Given the description of an element on the screen output the (x, y) to click on. 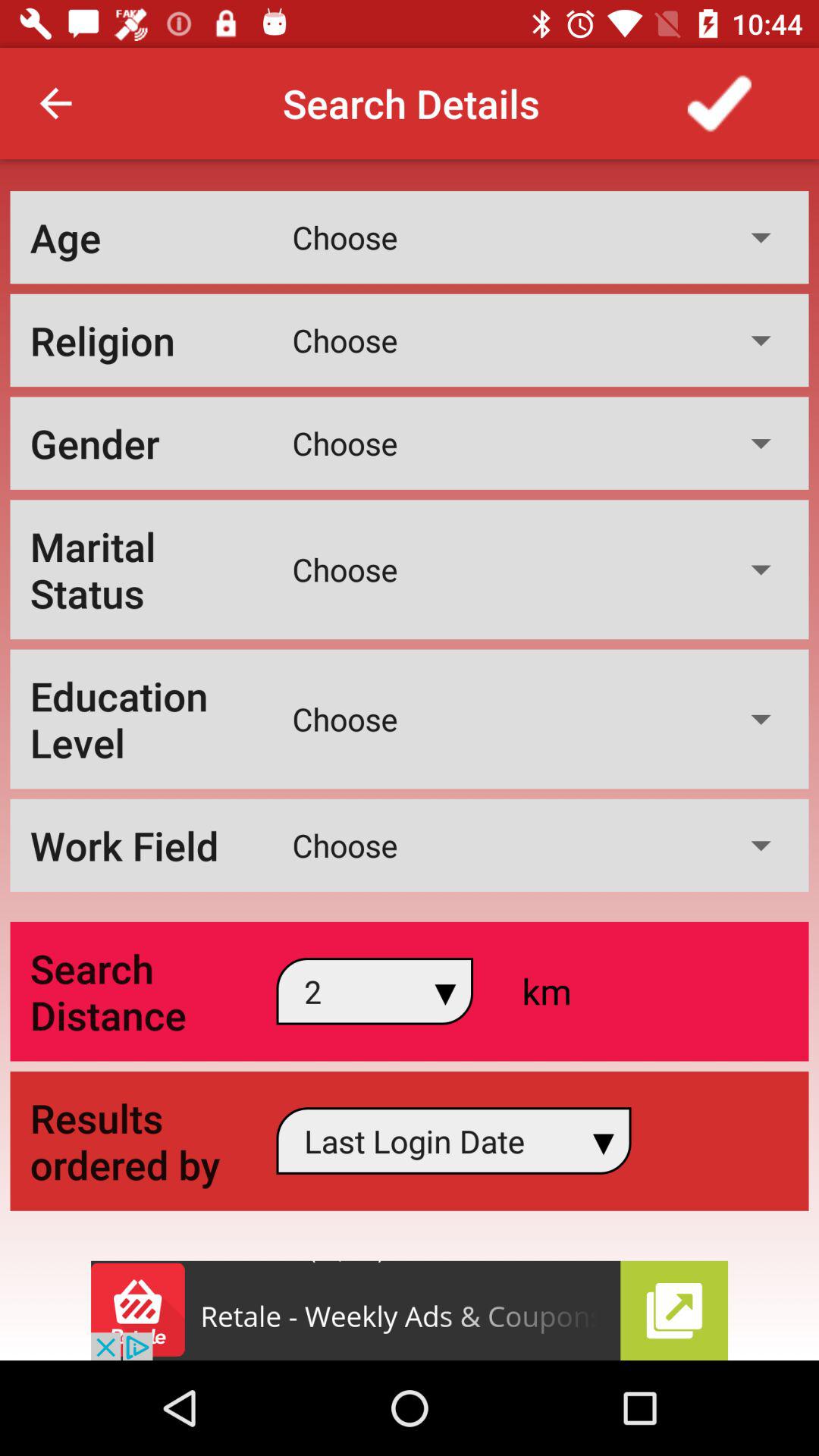
advertisement (409, 1310)
